Given the description of an element on the screen output the (x, y) to click on. 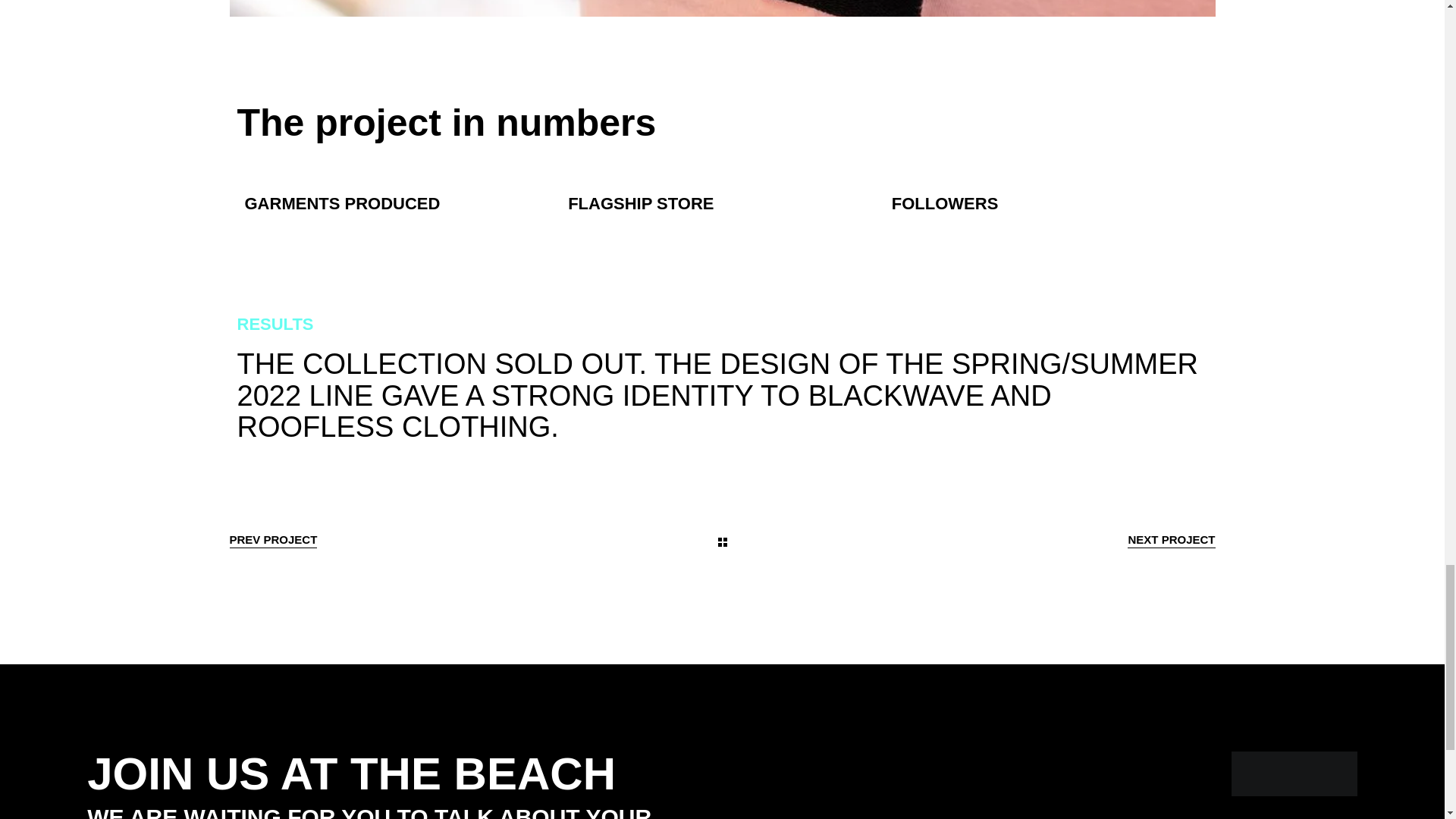
PREV PROJECT (272, 539)
NEXT PROJECT (1170, 539)
